Given the description of an element on the screen output the (x, y) to click on. 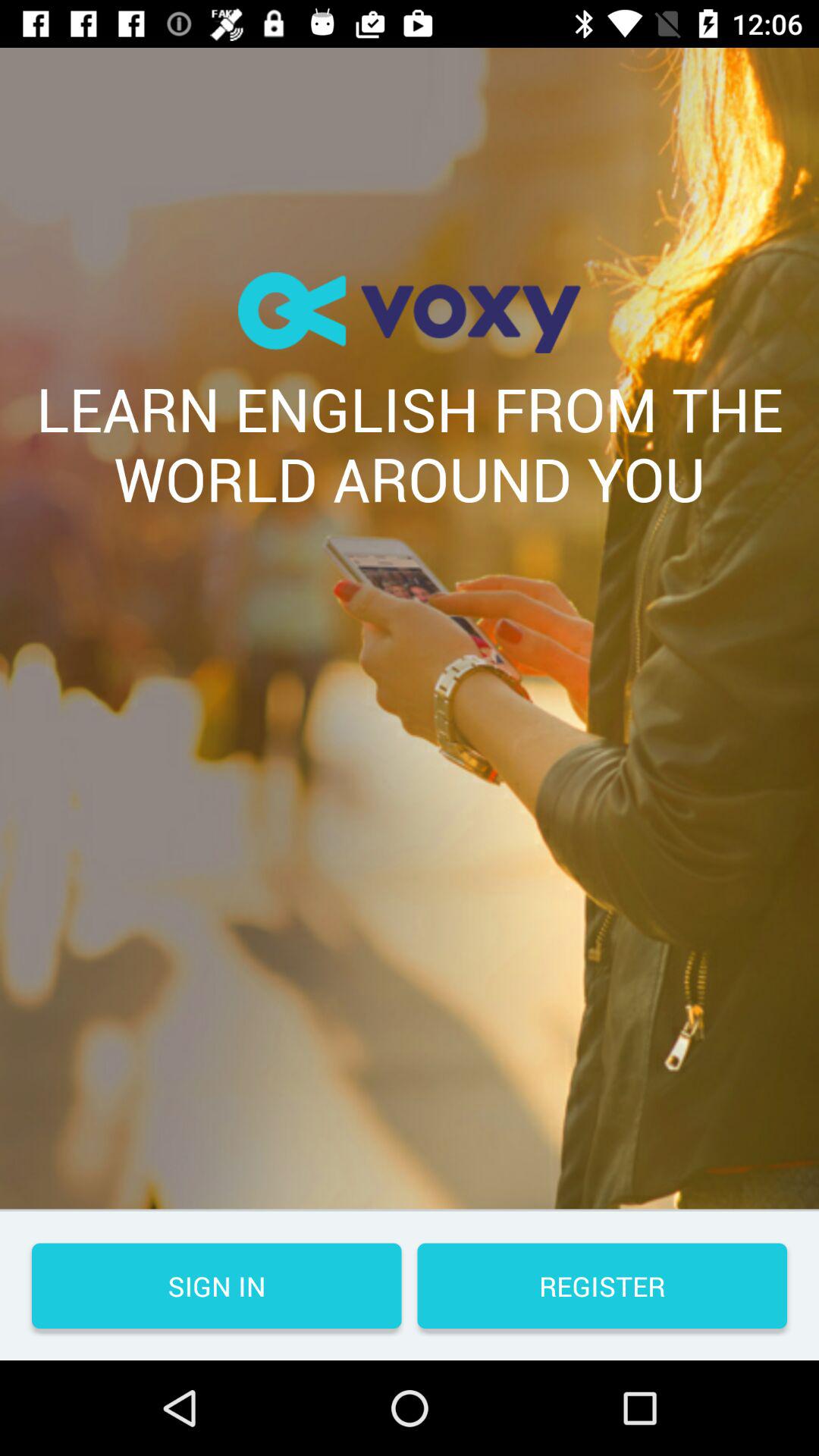
jump until the register button (602, 1285)
